Given the description of an element on the screen output the (x, y) to click on. 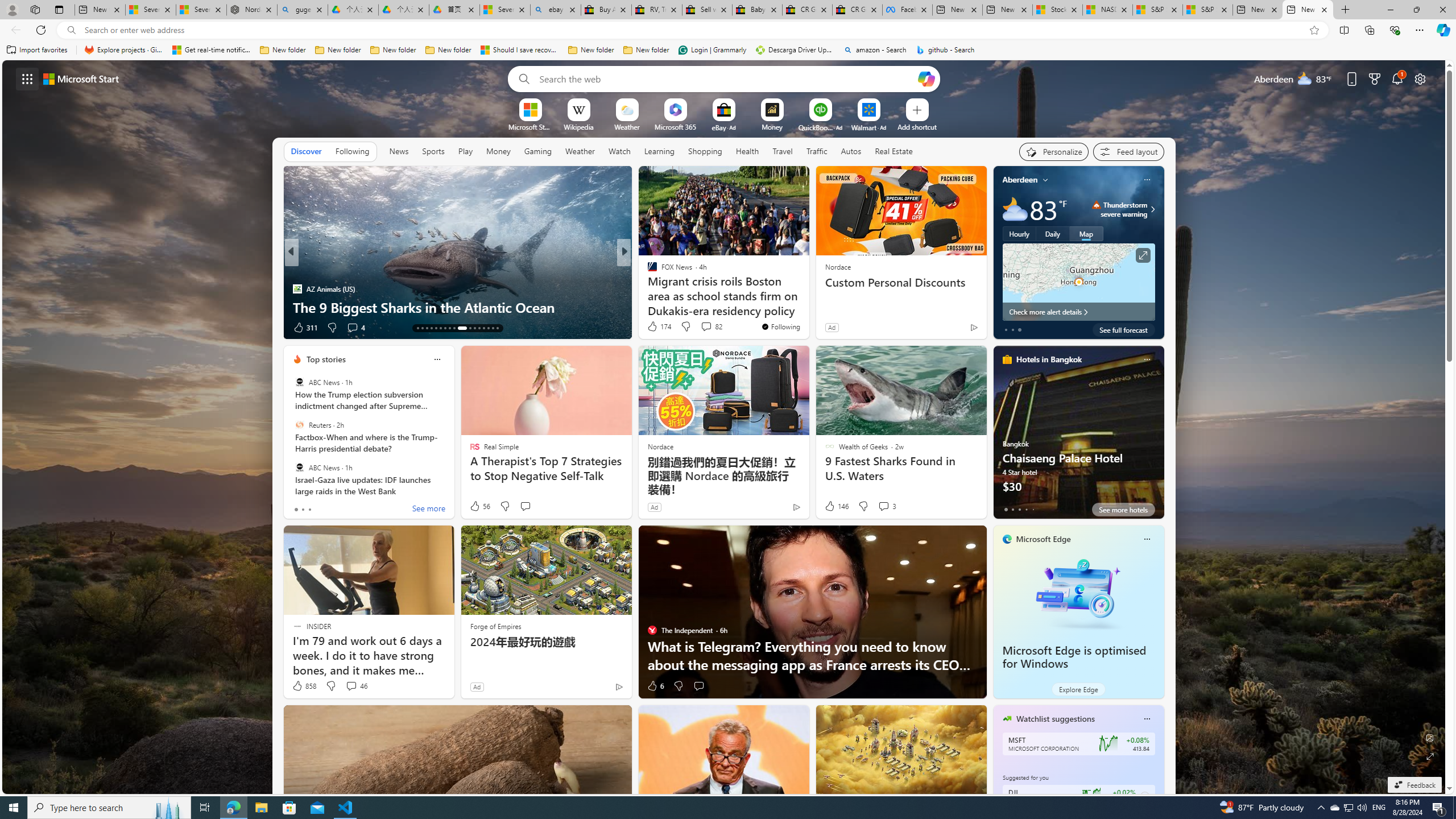
Class: weather-arrow-glyph (1152, 208)
Following (352, 151)
Shopping (705, 151)
News (398, 151)
View comments 7 Comment (6, 327)
Microsoft Edge is optimised for Windows (1074, 657)
69 Like (652, 327)
Aberdeen (1019, 179)
Buy Auto Parts & Accessories | eBay (606, 9)
Microsoft rewards (1374, 78)
Learning (658, 151)
Nordace - Summer Adventures 2024 (251, 9)
AutomationID: tab-28 (492, 328)
